Given the description of an element on the screen output the (x, y) to click on. 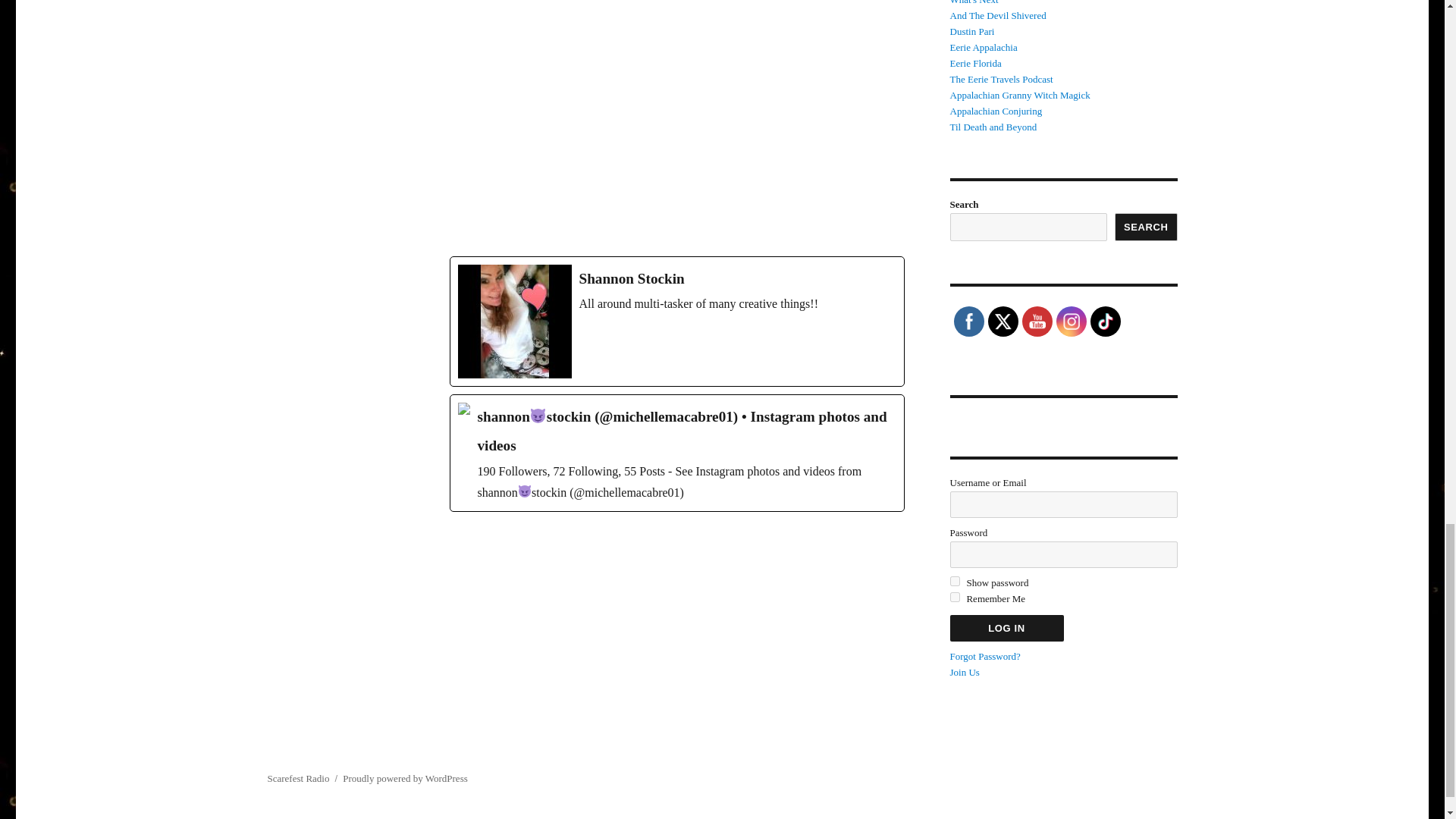
on (954, 581)
YouTube player (676, 124)
Log In (1005, 628)
Tiktok (1104, 321)
on (954, 596)
Facebook (967, 321)
Twitter (1002, 321)
Shannon Stockin (676, 321)
